Given the description of an element on the screen output the (x, y) to click on. 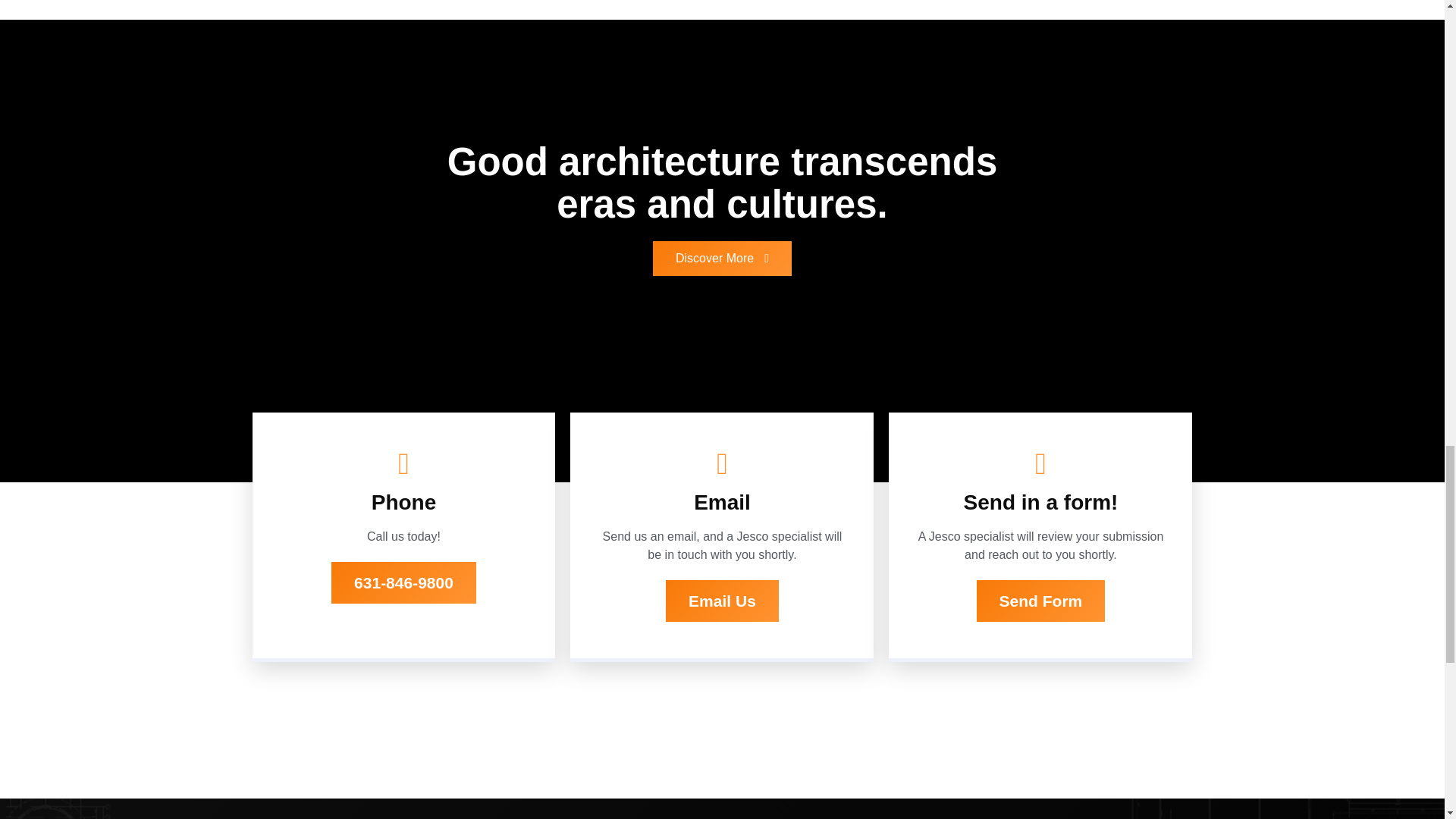
631-846-9800 (403, 582)
Email Us (721, 600)
Discover More (722, 258)
